Given the description of an element on the screen output the (x, y) to click on. 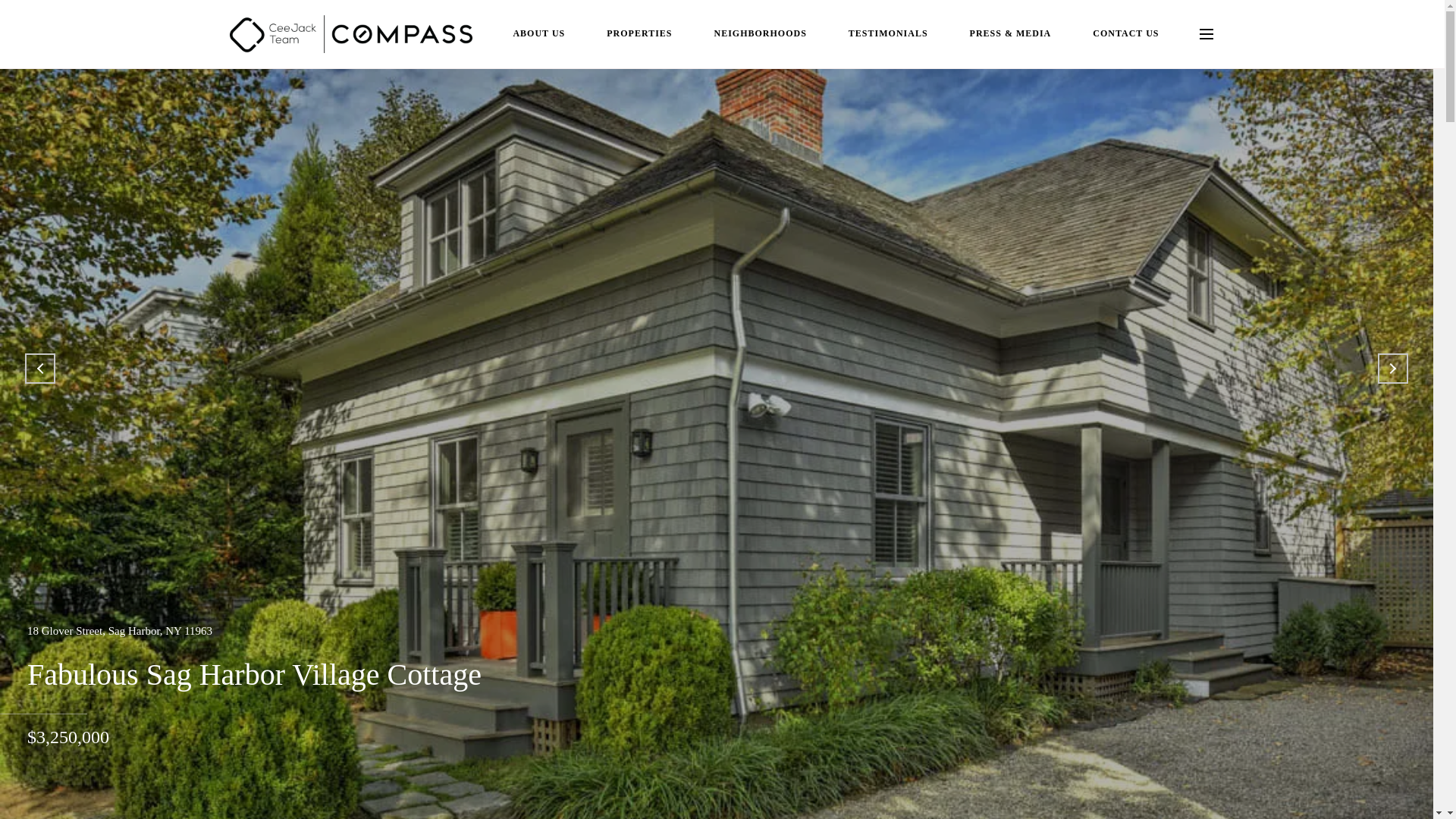
TESTIMONIALS (888, 33)
NEIGHBORHOODS (760, 33)
CONTACT US (1125, 33)
ABOUT US (538, 33)
